Given the description of an element on the screen output the (x, y) to click on. 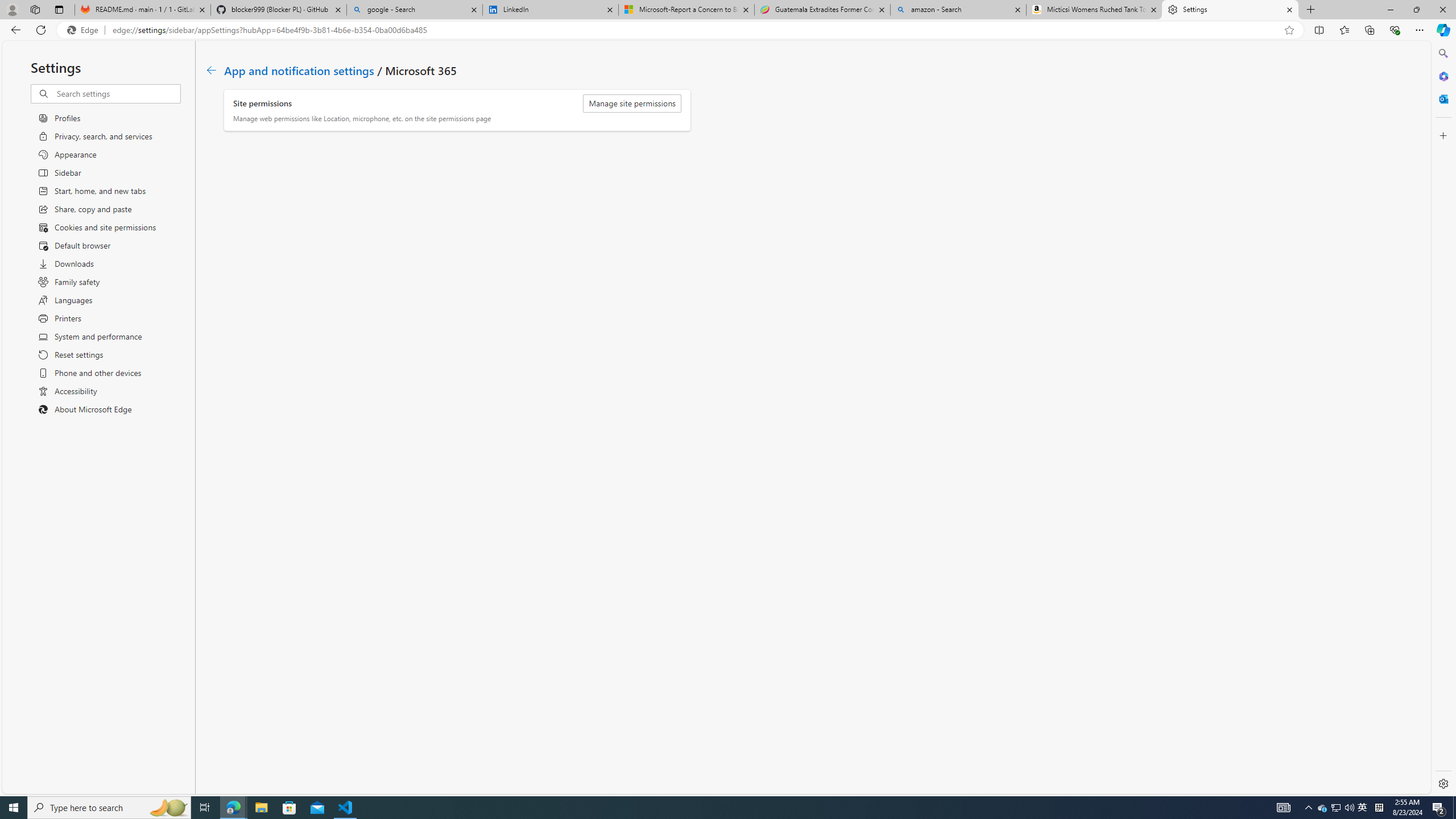
google - Search (414, 9)
App and notification settings (299, 69)
Outlook (1442, 98)
Search settings (117, 93)
